Given the description of an element on the screen output the (x, y) to click on. 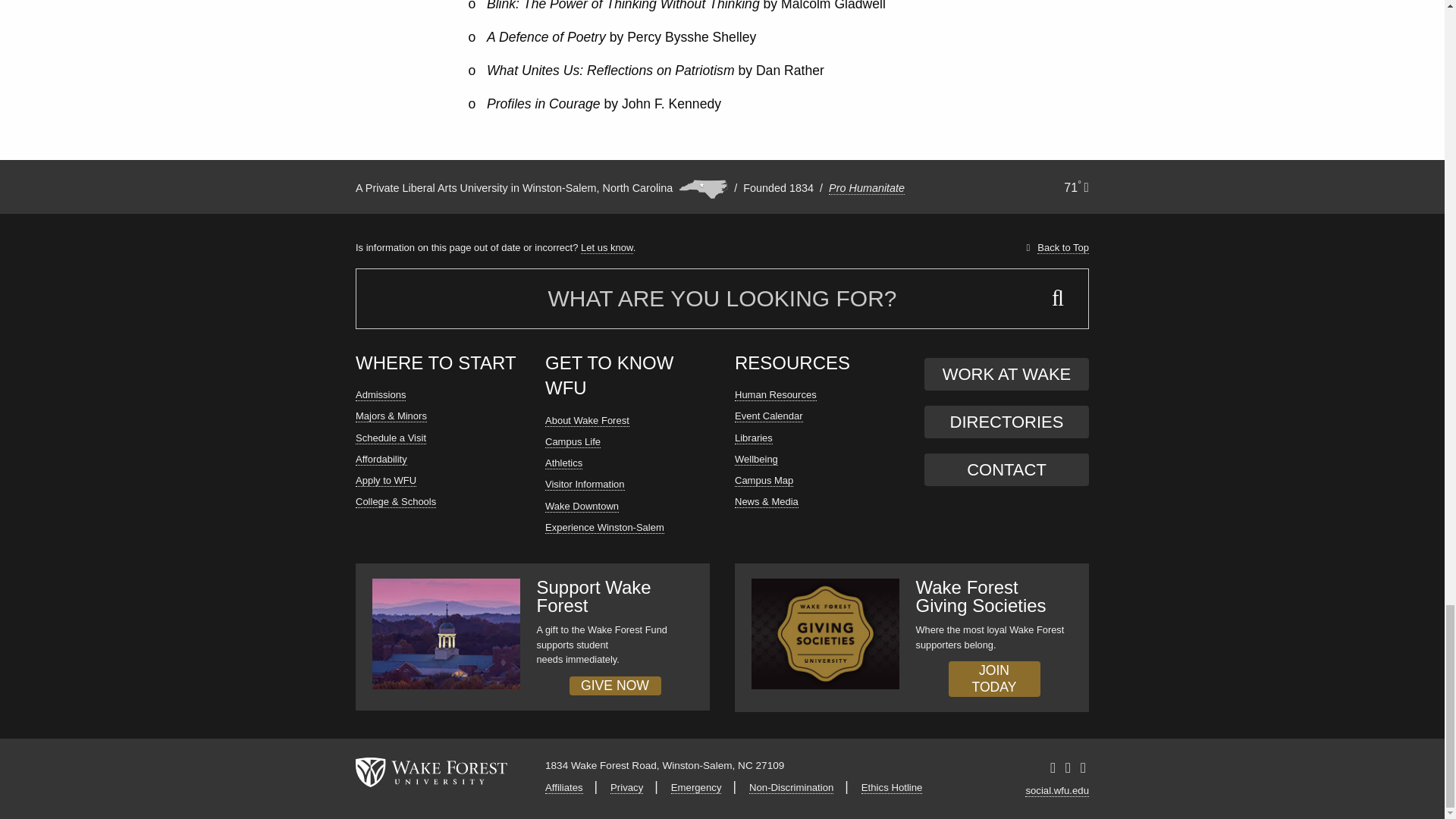
Back to Top (1061, 248)
